Given the description of an element on the screen output the (x, y) to click on. 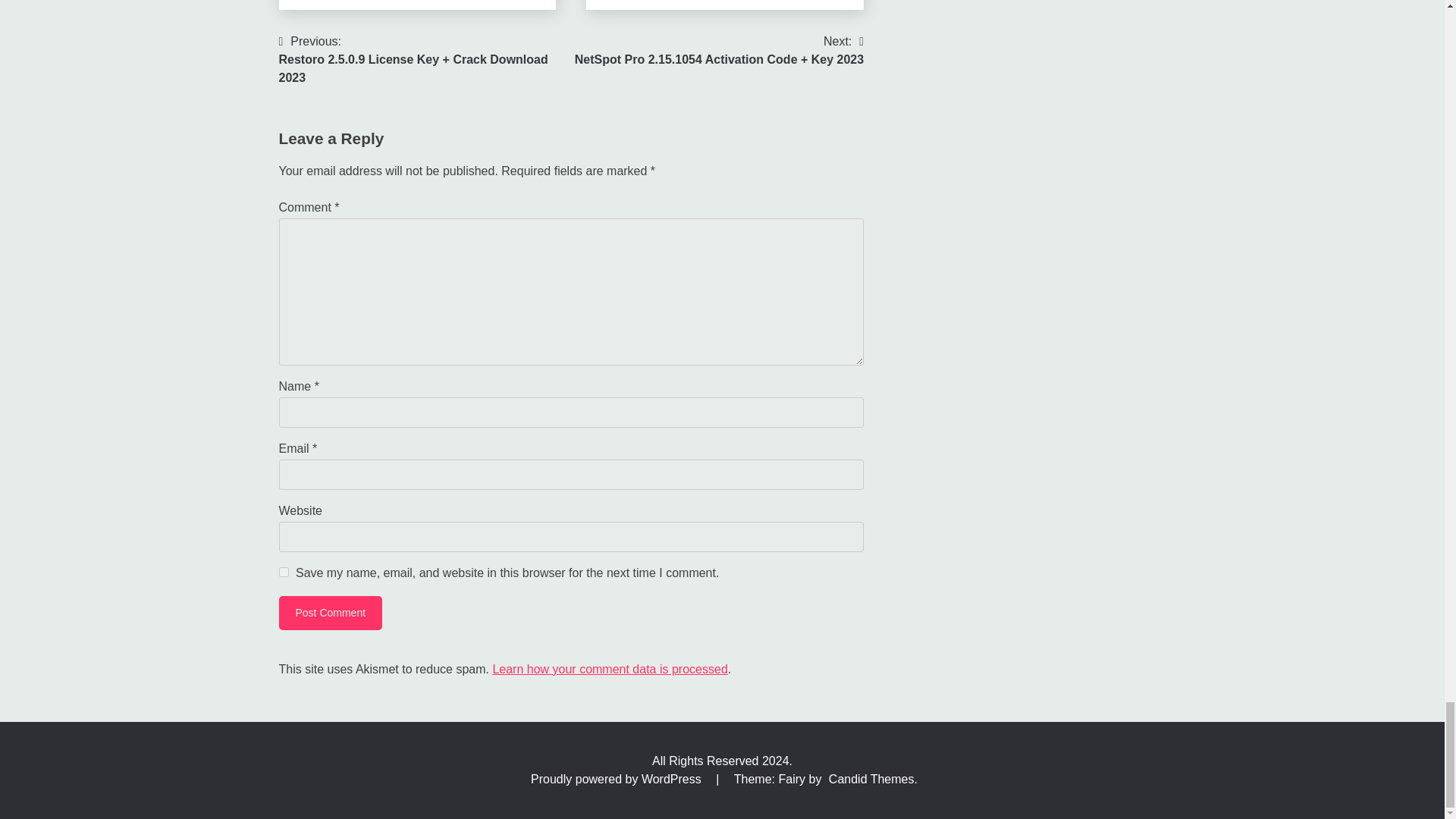
Post Comment (330, 612)
yes (283, 572)
